Given the description of an element on the screen output the (x, y) to click on. 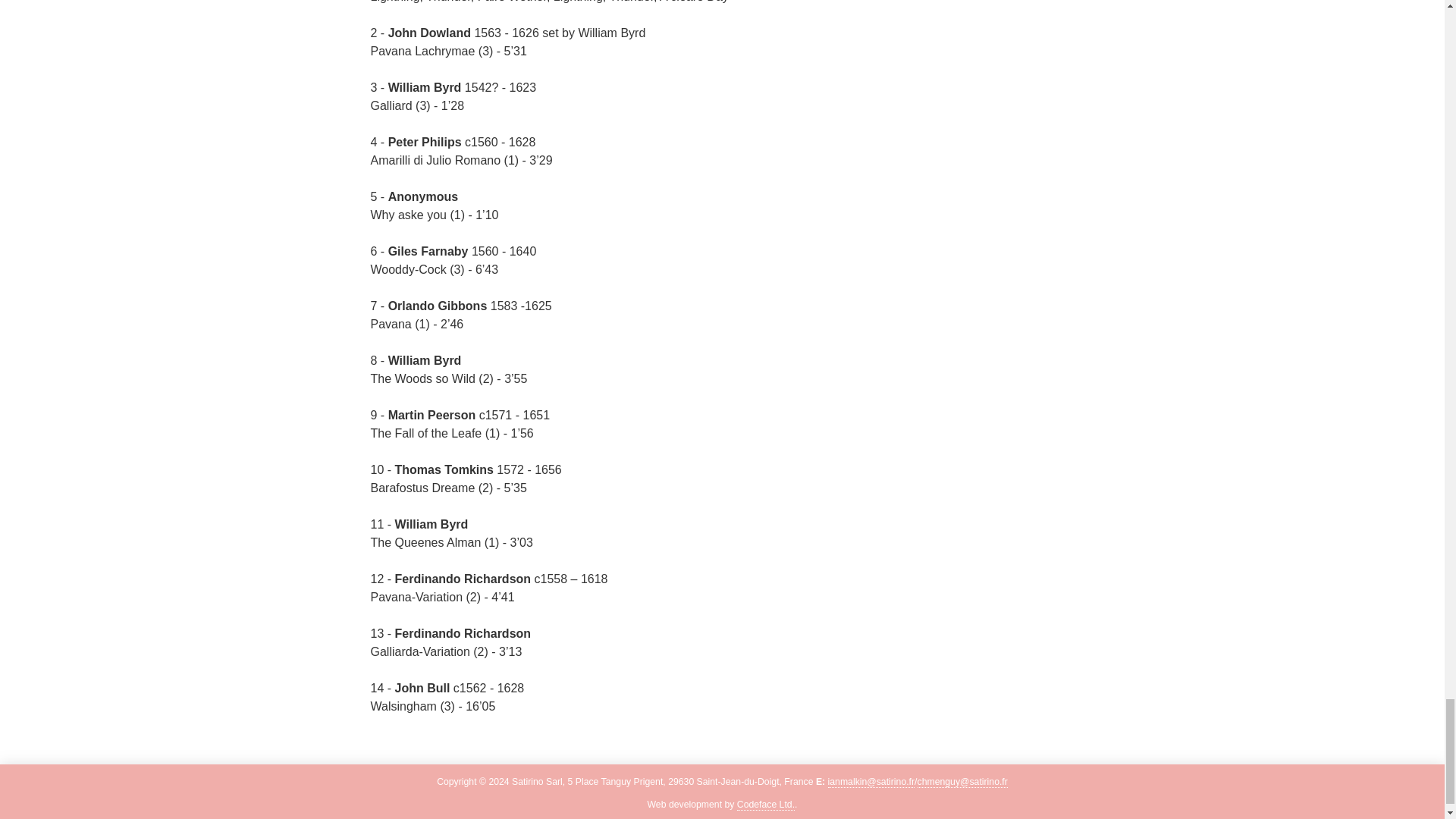
Codeface Ltd. (765, 804)
